Given the description of an element on the screen output the (x, y) to click on. 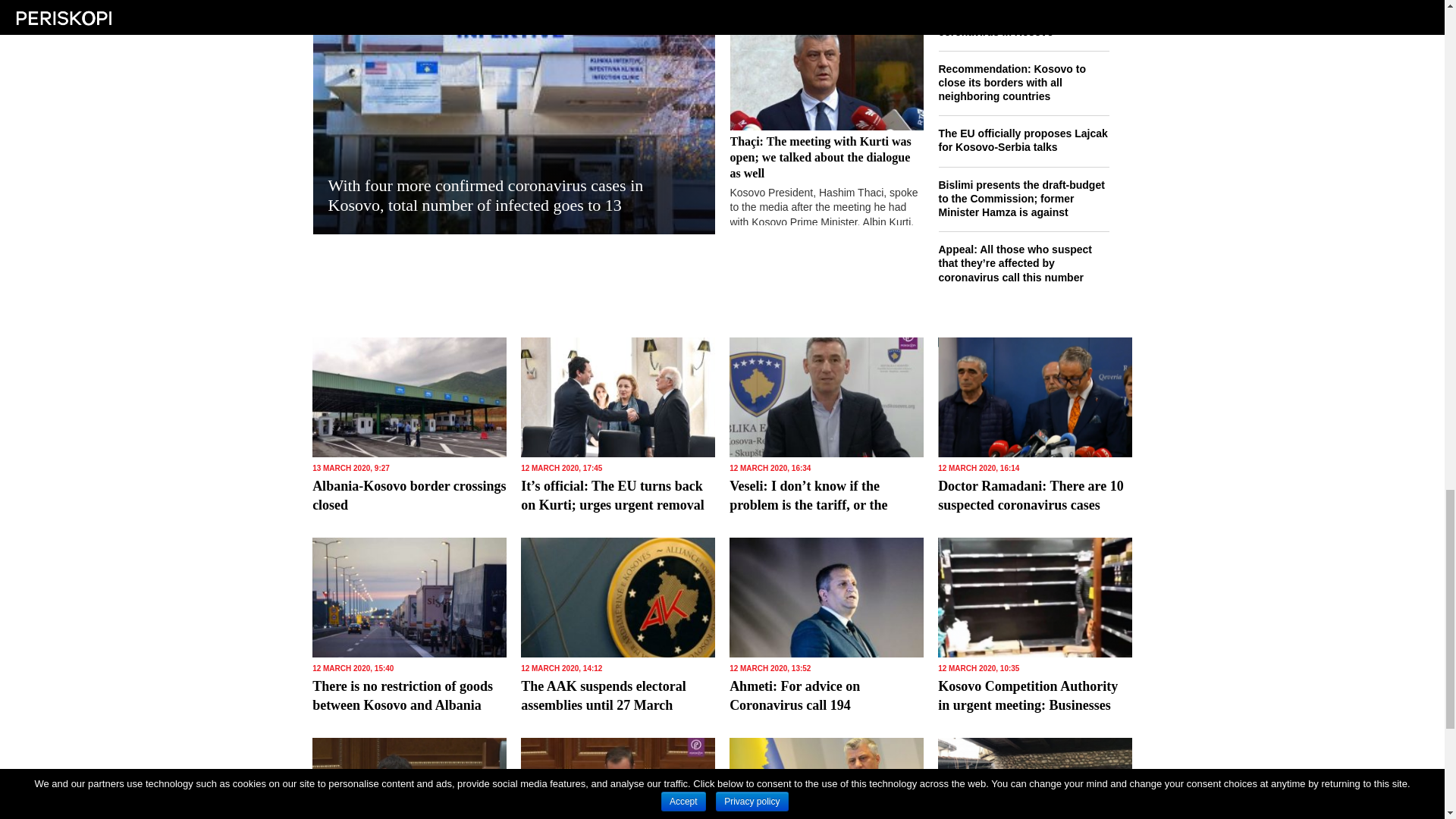
Two confirmed cases of coronavirus in Kosovo (1024, 30)
